Given the description of an element on the screen output the (x, y) to click on. 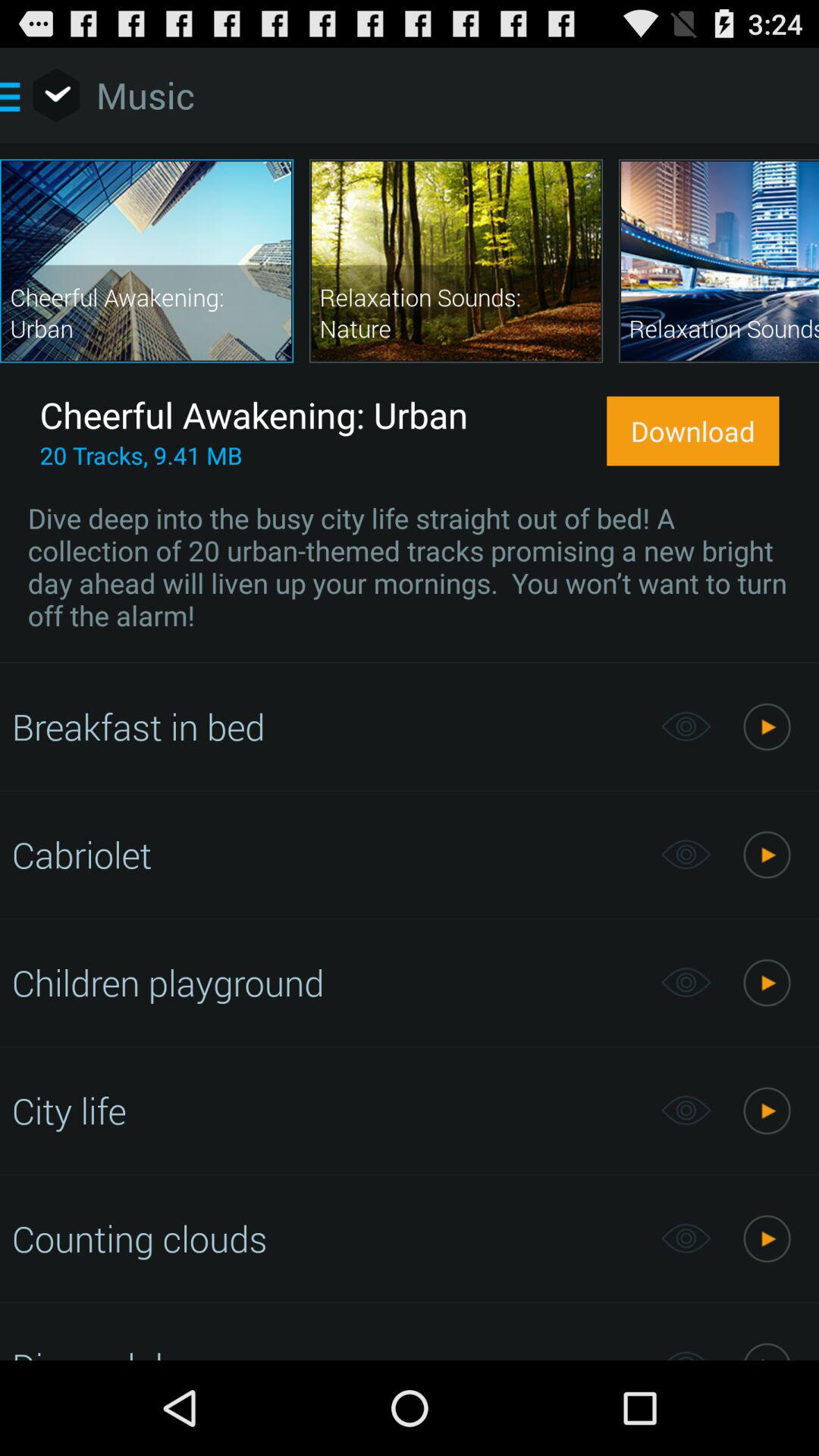
open icon above the children playground icon (327, 854)
